Given the description of an element on the screen output the (x, y) to click on. 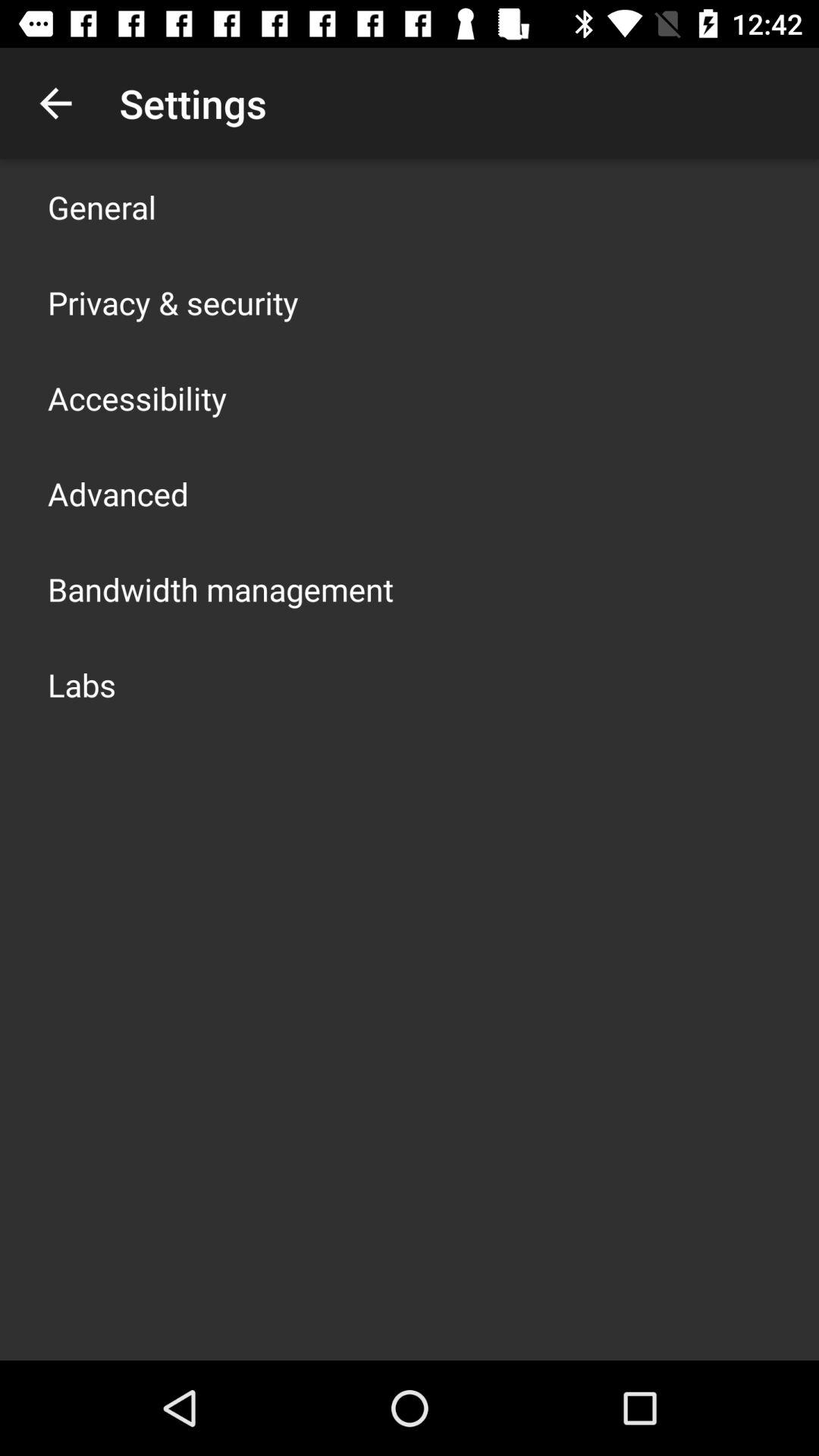
select item below the advanced icon (220, 588)
